Given the description of an element on the screen output the (x, y) to click on. 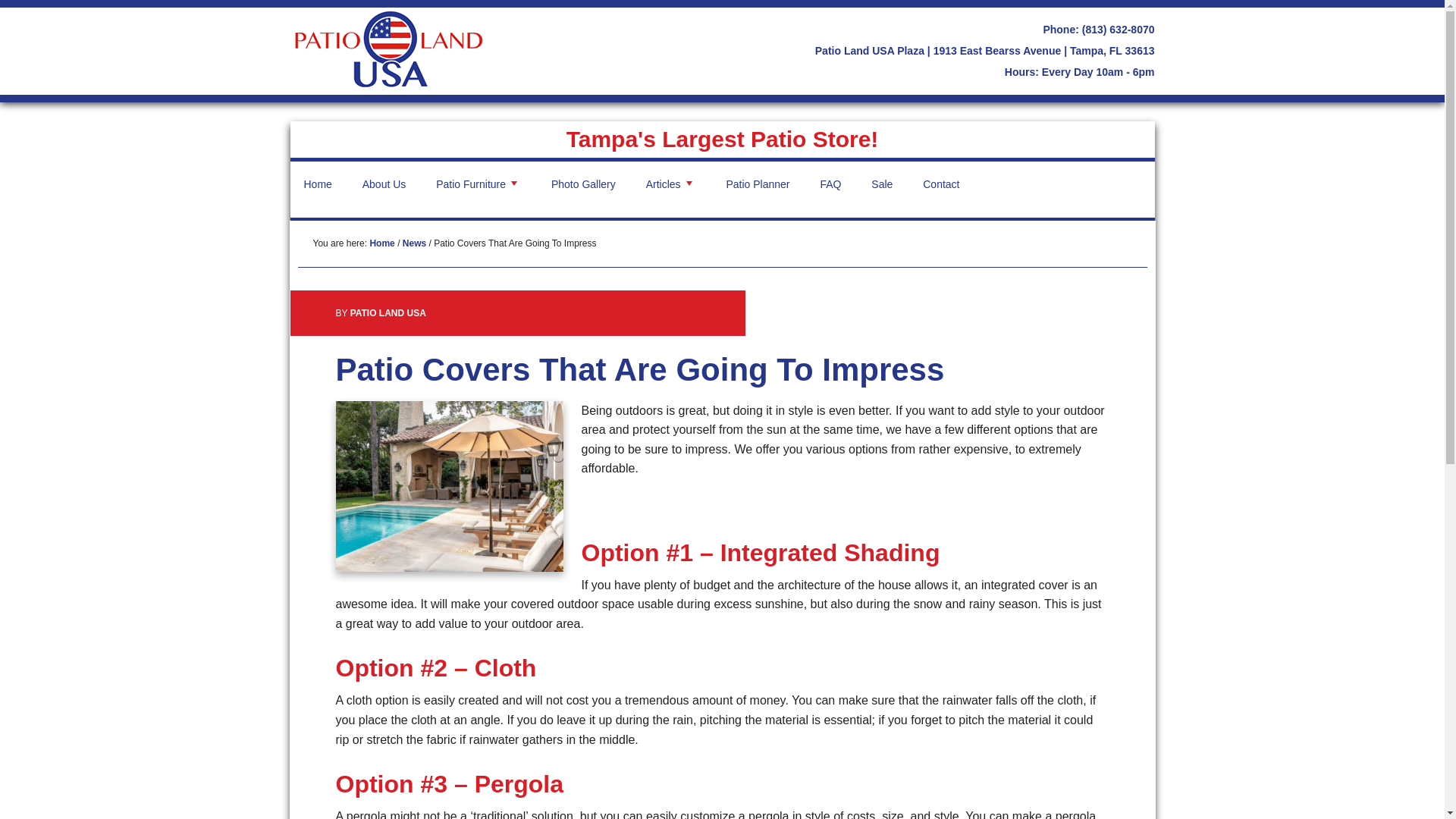
Patio Land USA (387, 48)
Patio Furniture (478, 183)
About Us (384, 184)
Home (317, 184)
